Given the description of an element on the screen output the (x, y) to click on. 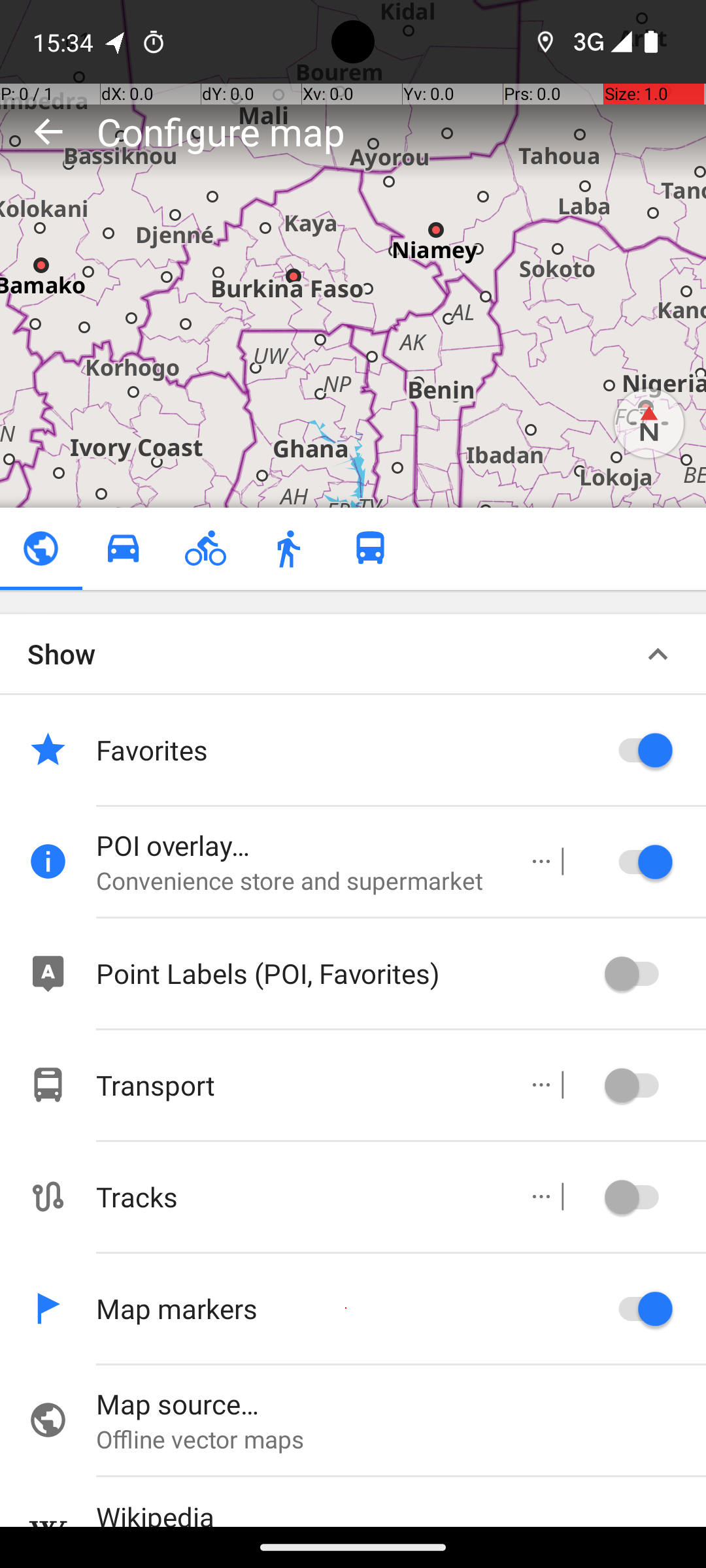
Browse map checked Element type: android.widget.ImageView (40, 548)
Convenience store and supermarket Element type: android.widget.TextView (298, 880)
